Given the description of an element on the screen output the (x, y) to click on. 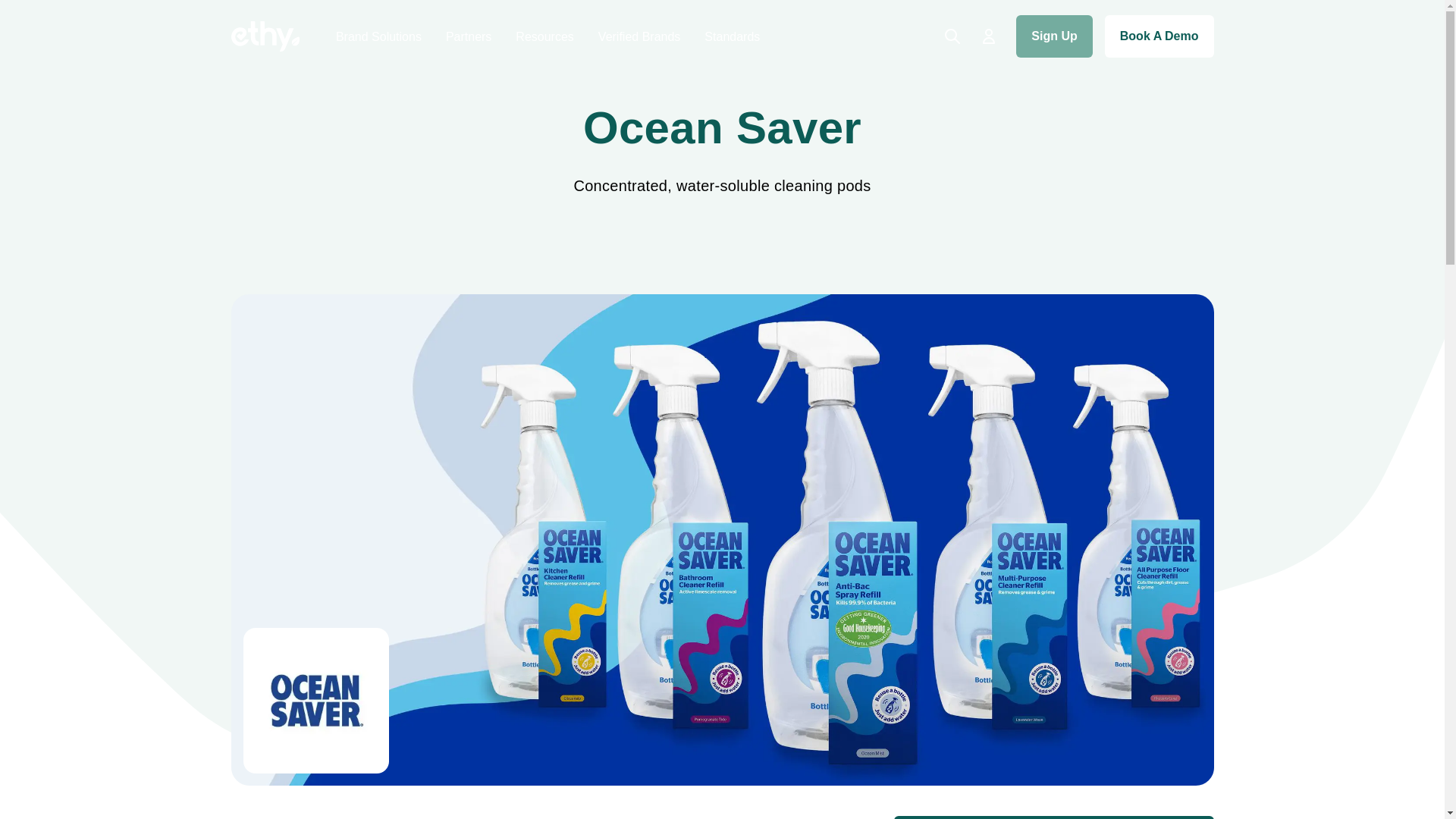
Verified Brands (639, 36)
Brand Solutions (379, 36)
Account (989, 36)
ethy (264, 36)
Book A Demo (1159, 36)
Sign Up (1054, 36)
Search (952, 36)
